Given the description of an element on the screen output the (x, y) to click on. 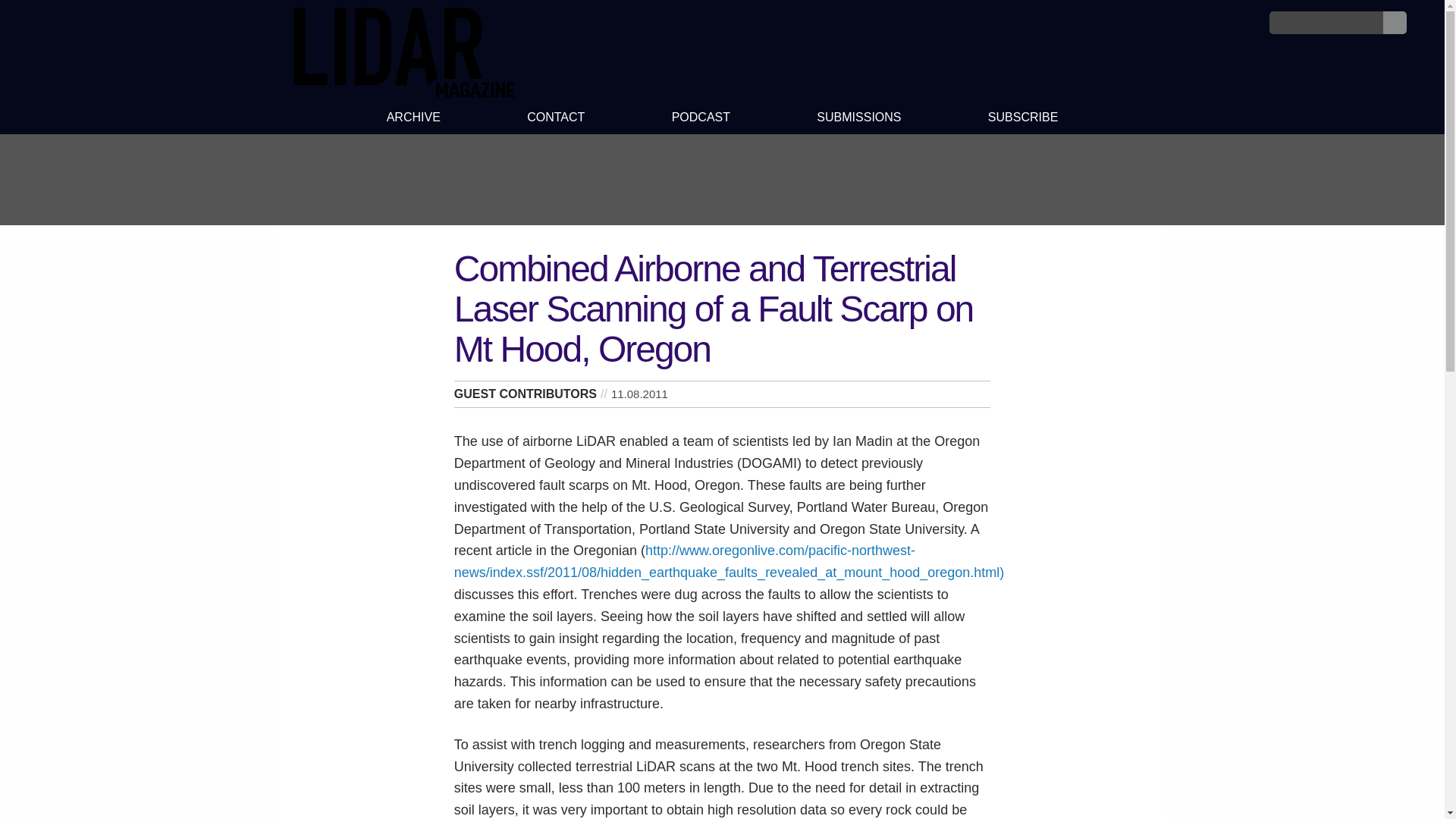
LIDAR Magazine (403, 52)
Submit (1394, 22)
Submit (1394, 22)
CONTACT (555, 119)
SUBSCRIBE (1023, 119)
LIDAR Magazine (403, 92)
GUEST CONTRIBUTORS (525, 393)
ARCHIVE (412, 119)
PODCAST (700, 119)
Submit (1394, 22)
SUBMISSIONS (858, 119)
Search for: (1326, 22)
